Given the description of an element on the screen output the (x, y) to click on. 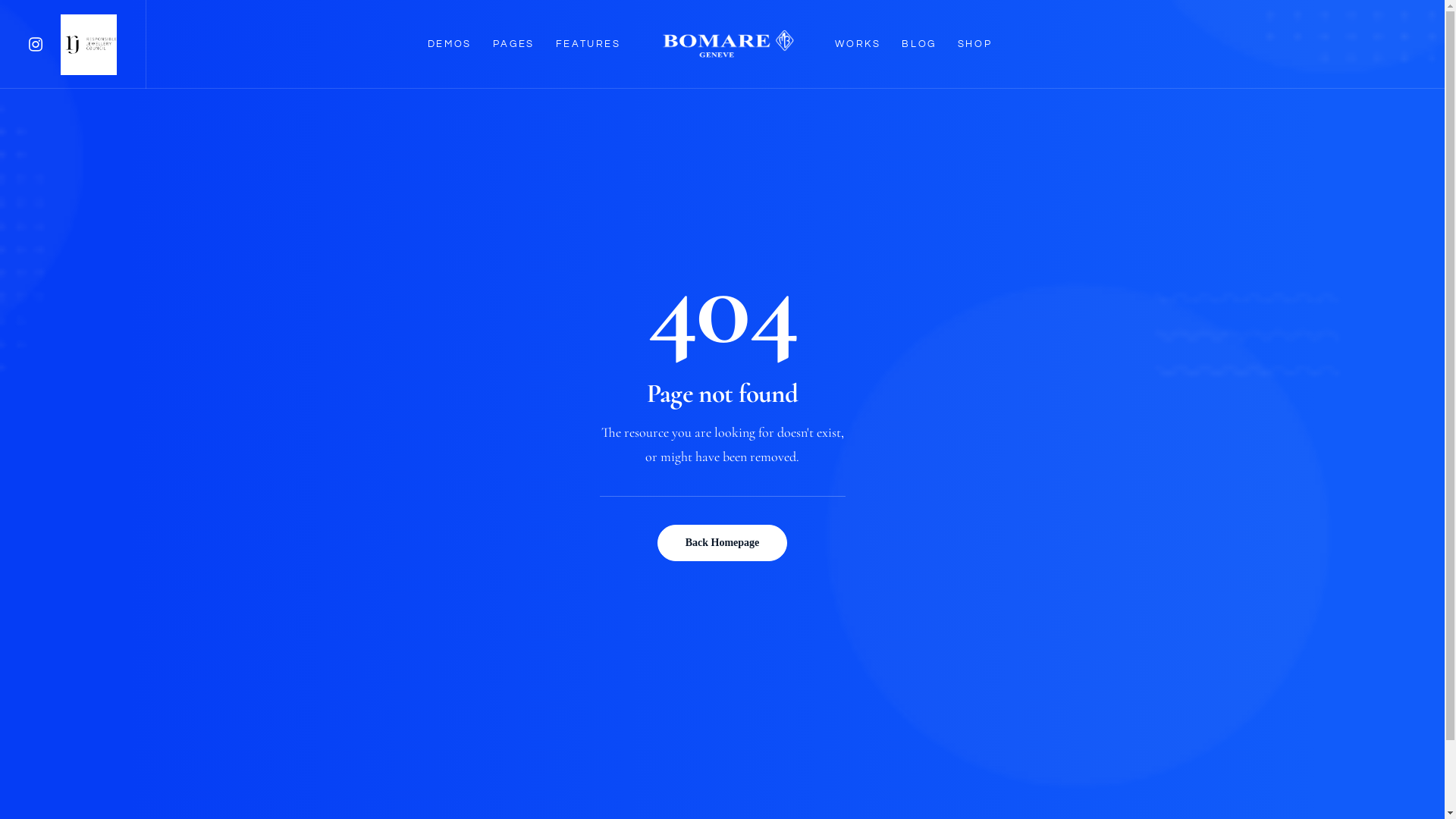
Back Homepage Element type: text (722, 542)
PAGES Element type: text (513, 44)
FEATURES Element type: text (588, 44)
WORKS Element type: text (857, 44)
BLOG Element type: text (918, 44)
DEMOS Element type: text (449, 44)
SHOP Element type: text (974, 44)
